Given the description of an element on the screen output the (x, y) to click on. 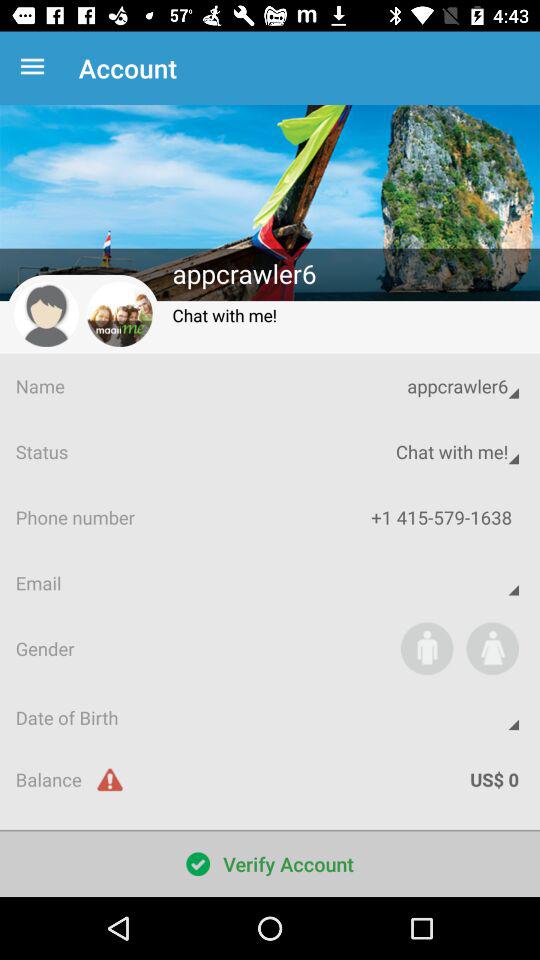
click the item next to the account icon (36, 68)
